Given the description of an element on the screen output the (x, y) to click on. 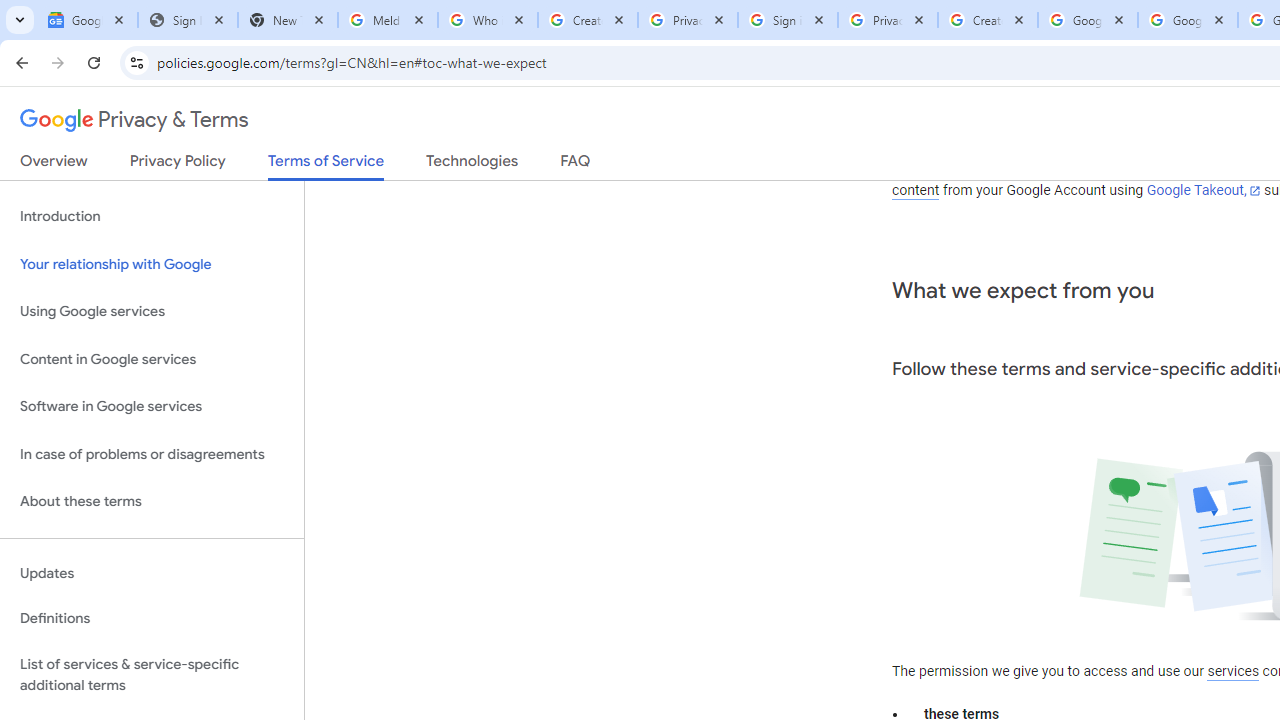
About these terms (152, 502)
FAQ (575, 165)
Terms of Service (326, 166)
New Tab (287, 20)
Google News (87, 20)
Create your Google Account (988, 20)
